Given the description of an element on the screen output the (x, y) to click on. 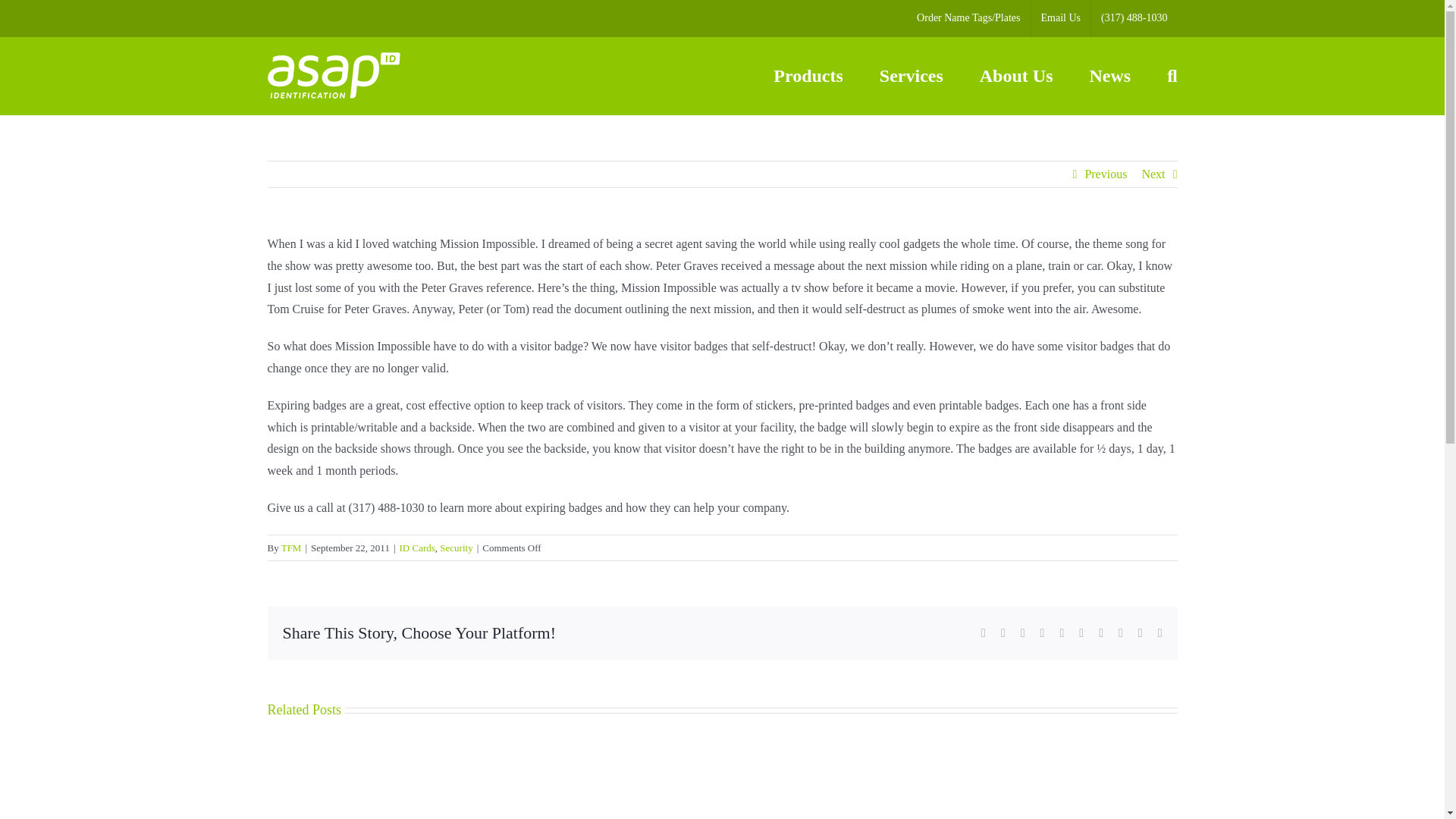
Email Us (1060, 18)
Previous (1105, 174)
ID Cards (416, 547)
Posts by TFM (291, 547)
About Us (1015, 75)
TFM (291, 547)
Products (808, 75)
Security (455, 547)
Next (1152, 174)
